Given the description of an element on the screen output the (x, y) to click on. 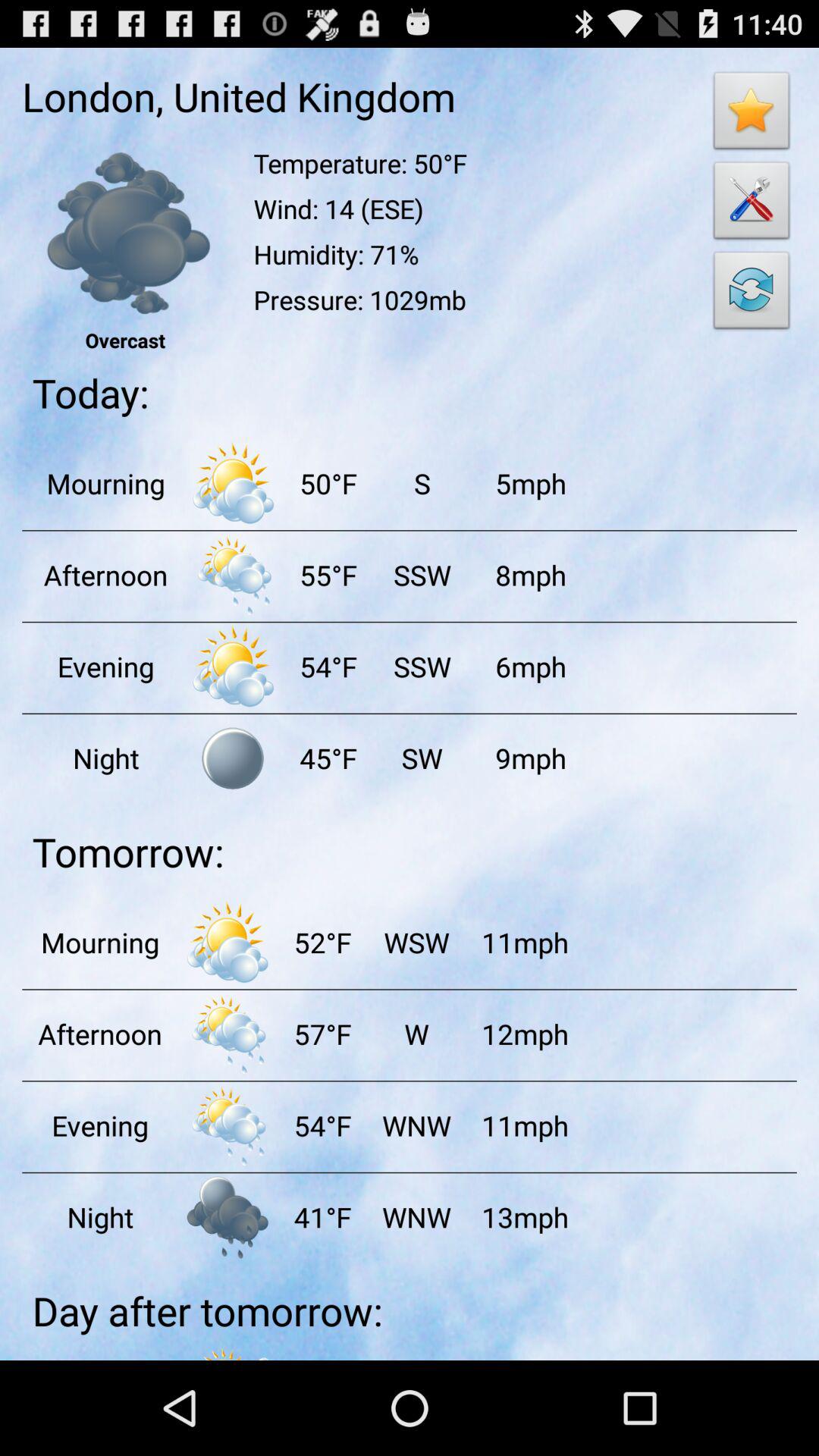
reference image (124, 232)
